Given the description of an element on the screen output the (x, y) to click on. 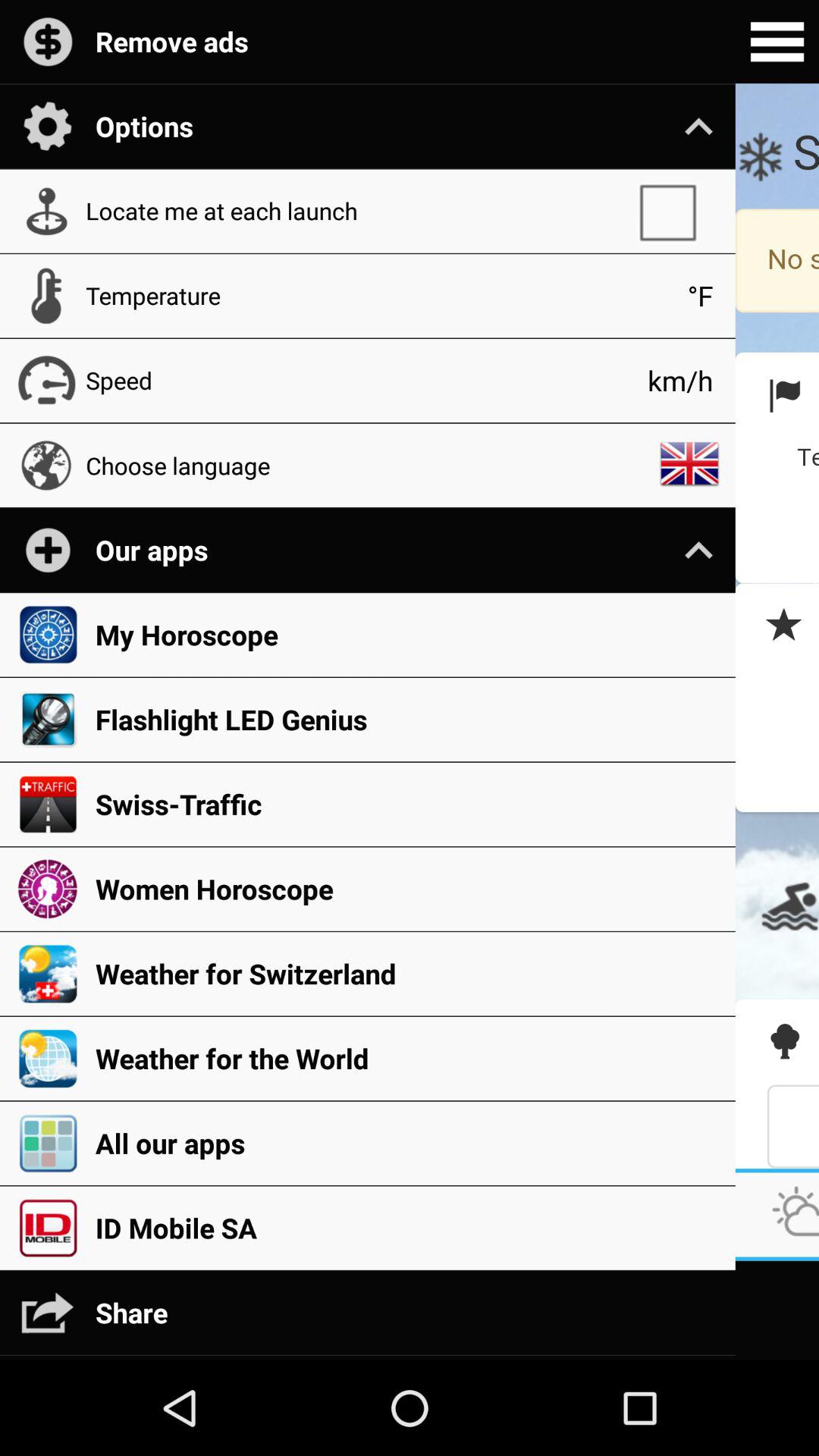
toggle automatic location (675, 211)
